Given the description of an element on the screen output the (x, y) to click on. 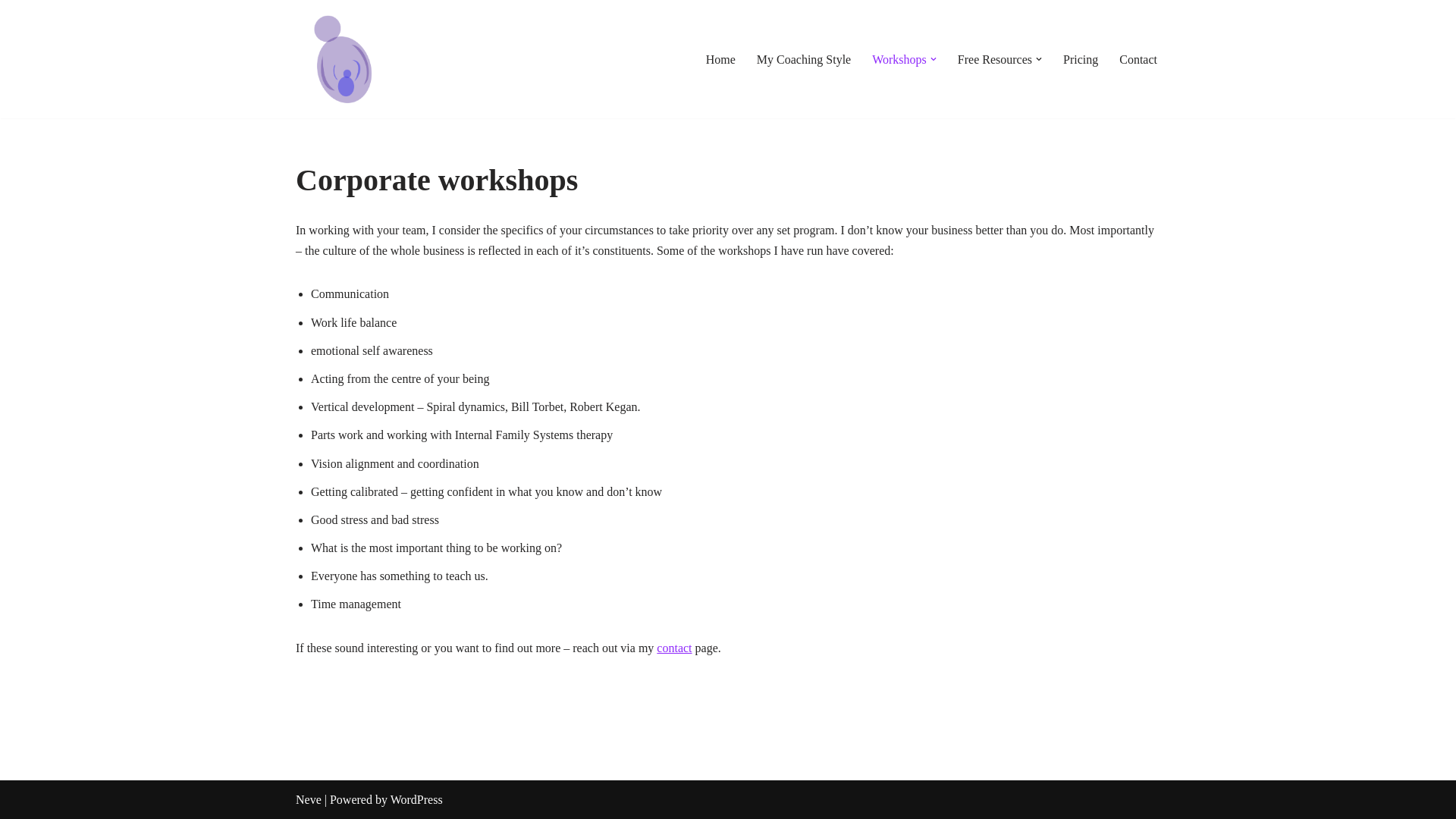
My Coaching Style (803, 59)
Skip to content (11, 31)
Pricing (1079, 59)
Free Resources (995, 59)
Contact (1138, 59)
Workshops (899, 59)
Neve (308, 799)
contact (673, 647)
WordPress (416, 799)
Home (720, 59)
